Given the description of an element on the screen output the (x, y) to click on. 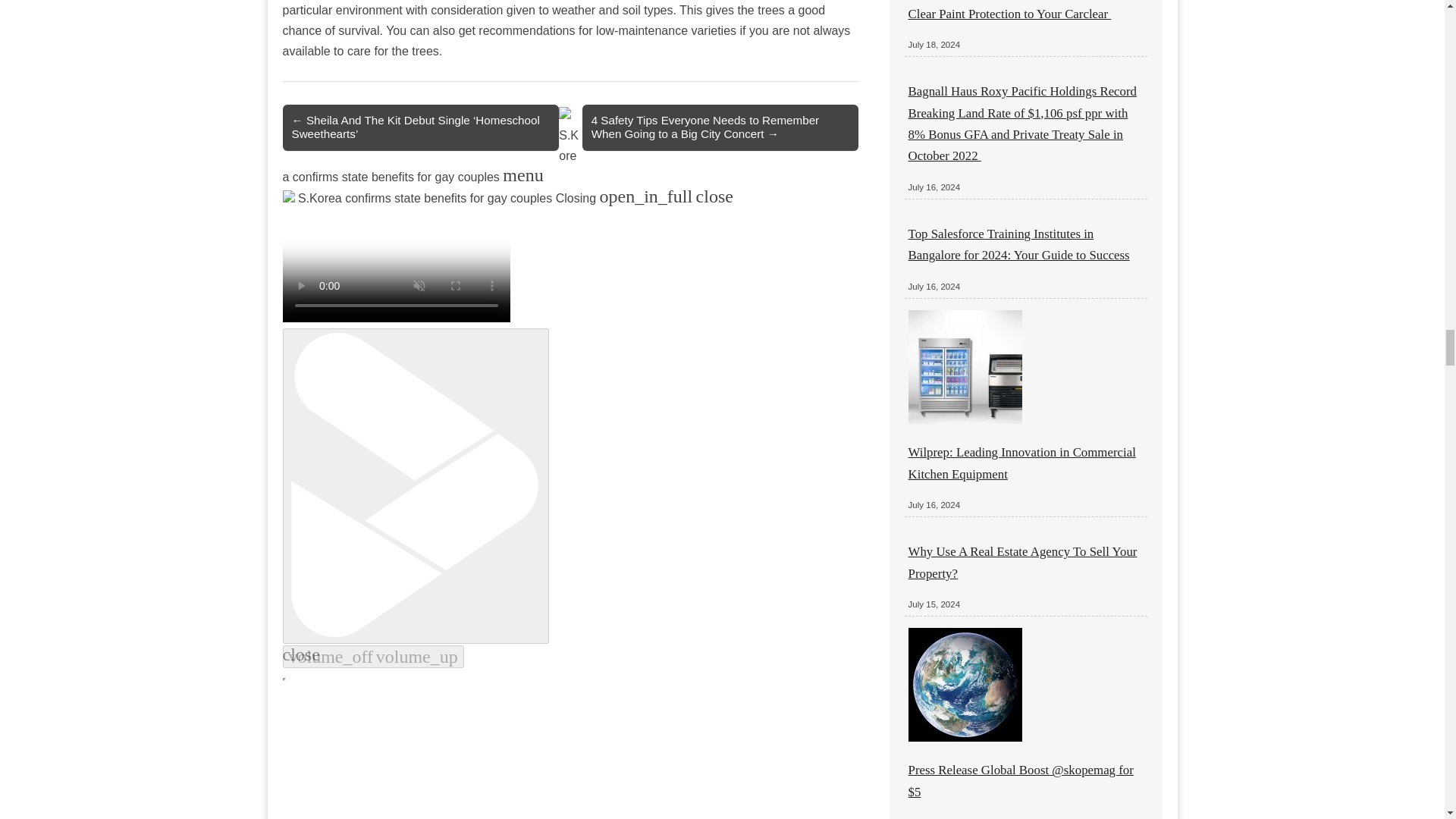
Wilprep: Leading Innovation in Commercial Kitchen Equipment (1021, 462)
Why Use A Real Estate Agency To Sell Your Property? (1022, 561)
